Given the description of an element on the screen output the (x, y) to click on. 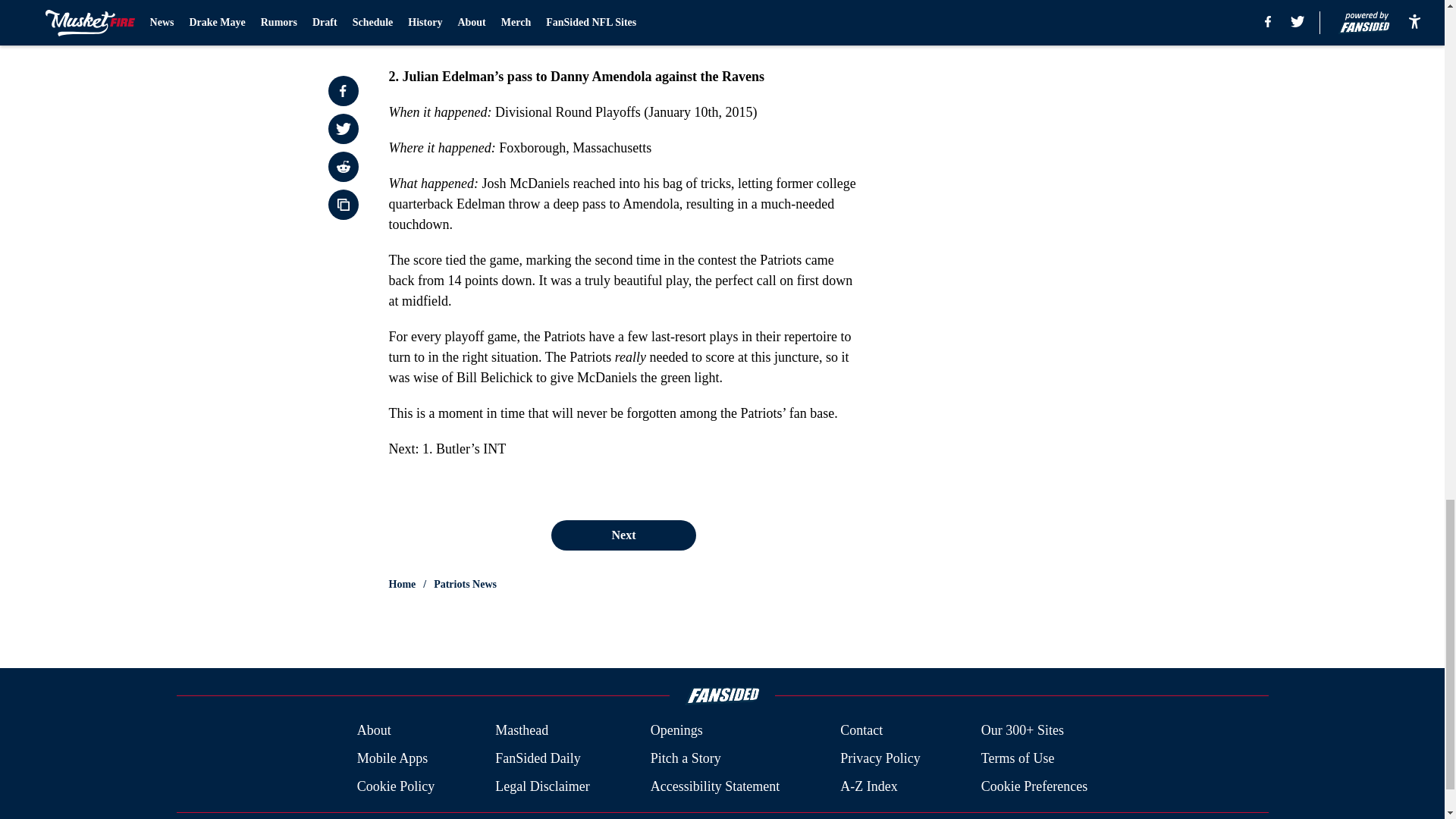
FanSided Daily (537, 757)
Masthead (521, 730)
Home (401, 583)
Terms of Use (1017, 757)
Patriots News (464, 583)
Openings (676, 730)
Cookie Policy (395, 786)
Mobile Apps (392, 757)
Contact (861, 730)
About (373, 730)
